Given the description of an element on the screen output the (x, y) to click on. 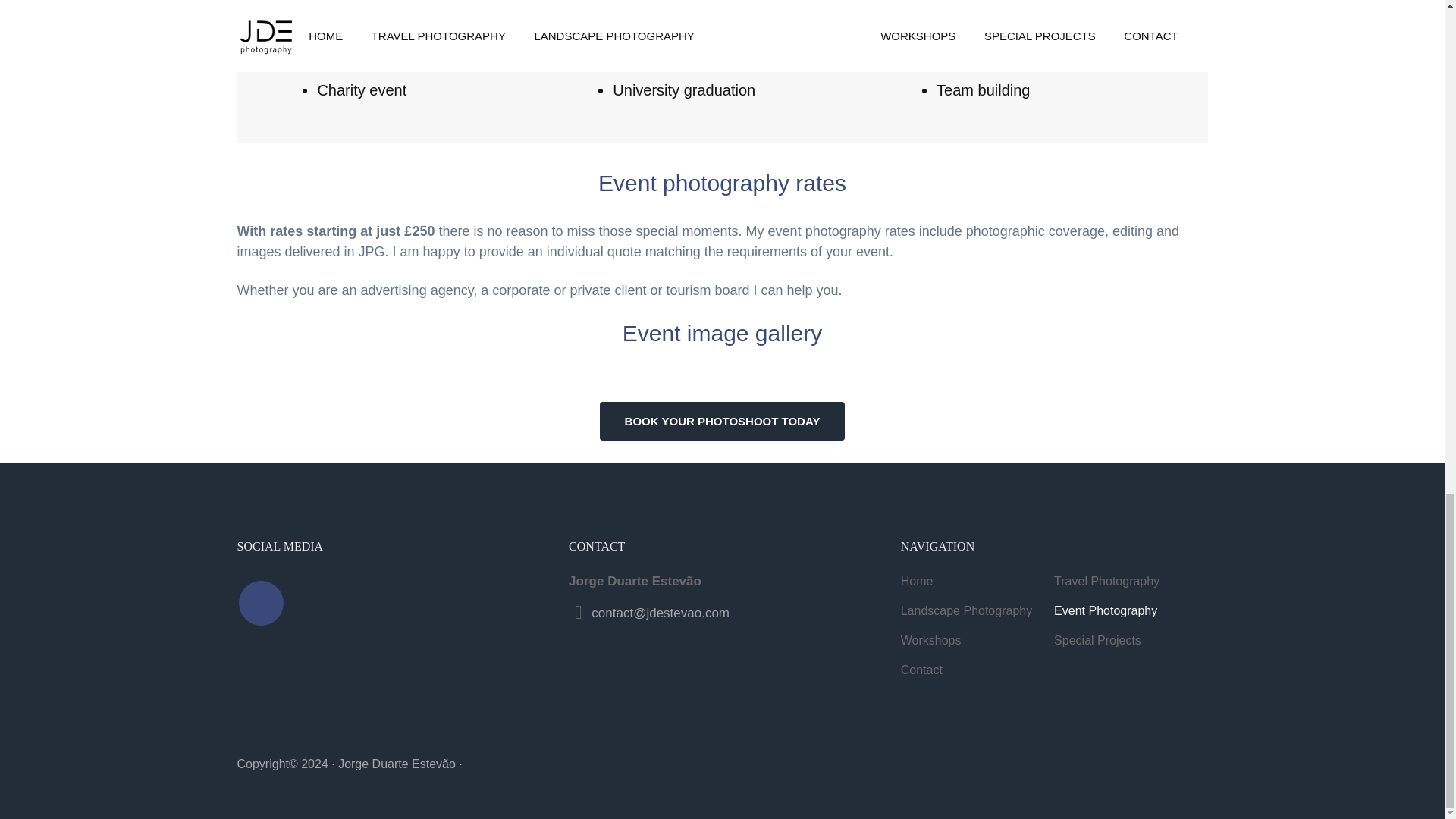
Travel Photography (1130, 581)
Workshops (977, 640)
Contact (977, 670)
BOOK YOUR PHOTOSHOOT TODAY (722, 421)
Special Projects (1130, 640)
Home (977, 581)
Landscape Photography (977, 610)
Event Photography (1130, 610)
